Given the description of an element on the screen output the (x, y) to click on. 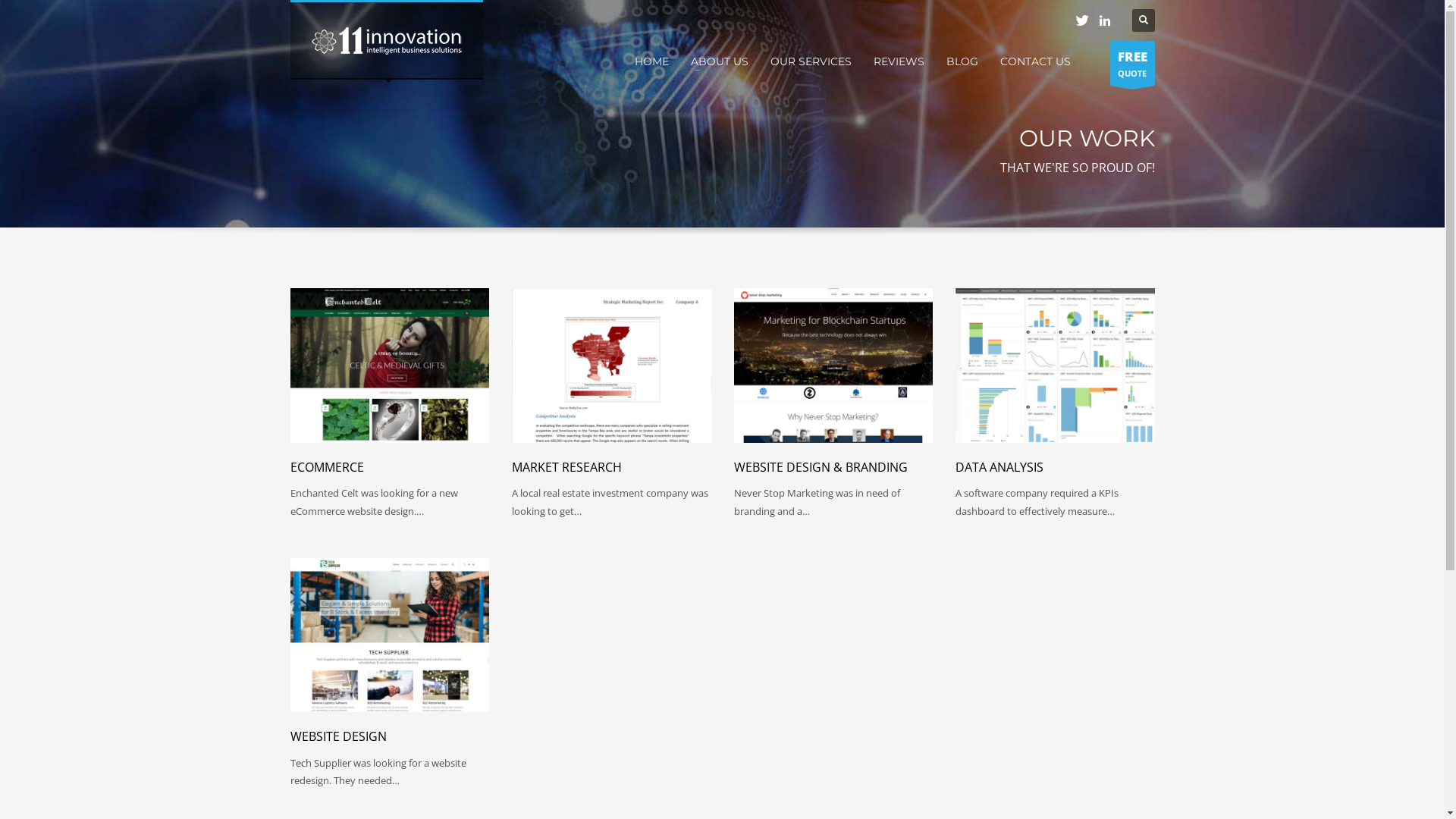
REVIEWS Element type: text (898, 61)
ECOMMERCE Element type: text (326, 466)
BLOG Element type: text (962, 61)
HOME Element type: text (650, 61)
WEBSITE DESIGN & BRANDING Element type: text (820, 466)
Twitter Element type: hover (1081, 20)
ABOUT US Element type: text (718, 61)
intelligent business solutions Element type: hover (386, 40)
WEBSITE DESIGN Element type: text (337, 736)
CONTACT US Element type: text (1034, 61)
LinkedIn Element type: hover (1104, 20)
MARKET RESEARCH Element type: text (566, 466)
"data" Element type: hover (1054, 365)
"strategicreport" Element type: hover (611, 365)
OUR SERVICES Element type: text (810, 61)
DATA ANALYSIS Element type: text (999, 466)
"techsupplier" Element type: hover (389, 635)
"ecommerce" Element type: hover (389, 365)
"web" Element type: hover (833, 365)
FREE
QUOTE Element type: text (1132, 62)
